Given the description of an element on the screen output the (x, y) to click on. 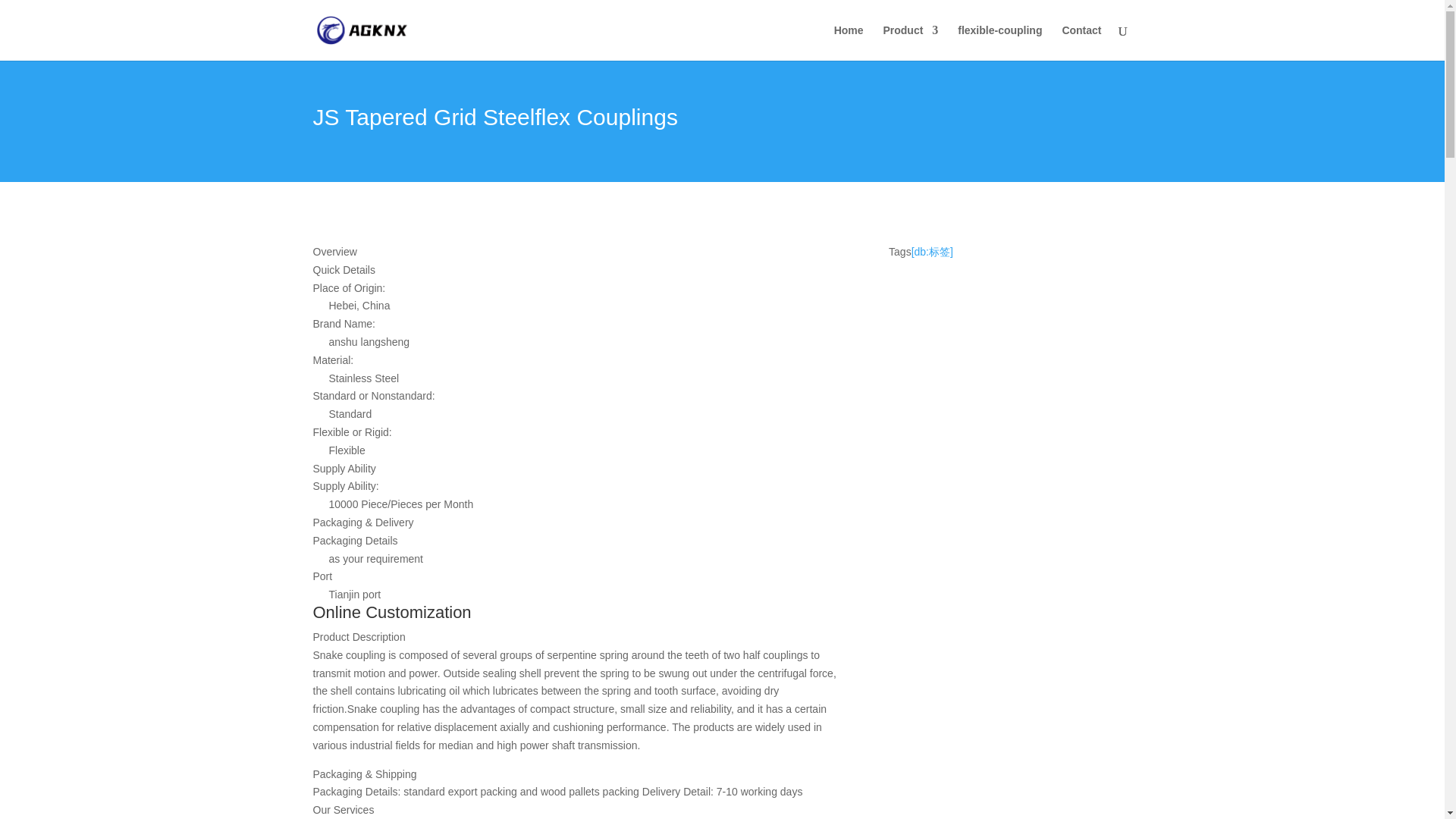
flexible-coupling (1000, 42)
Port (578, 577)
Product (909, 42)
Packaging Details (578, 541)
as your requirement (586, 559)
Tianjin port (586, 595)
Contact (1080, 42)
